Given the description of an element on the screen output the (x, y) to click on. 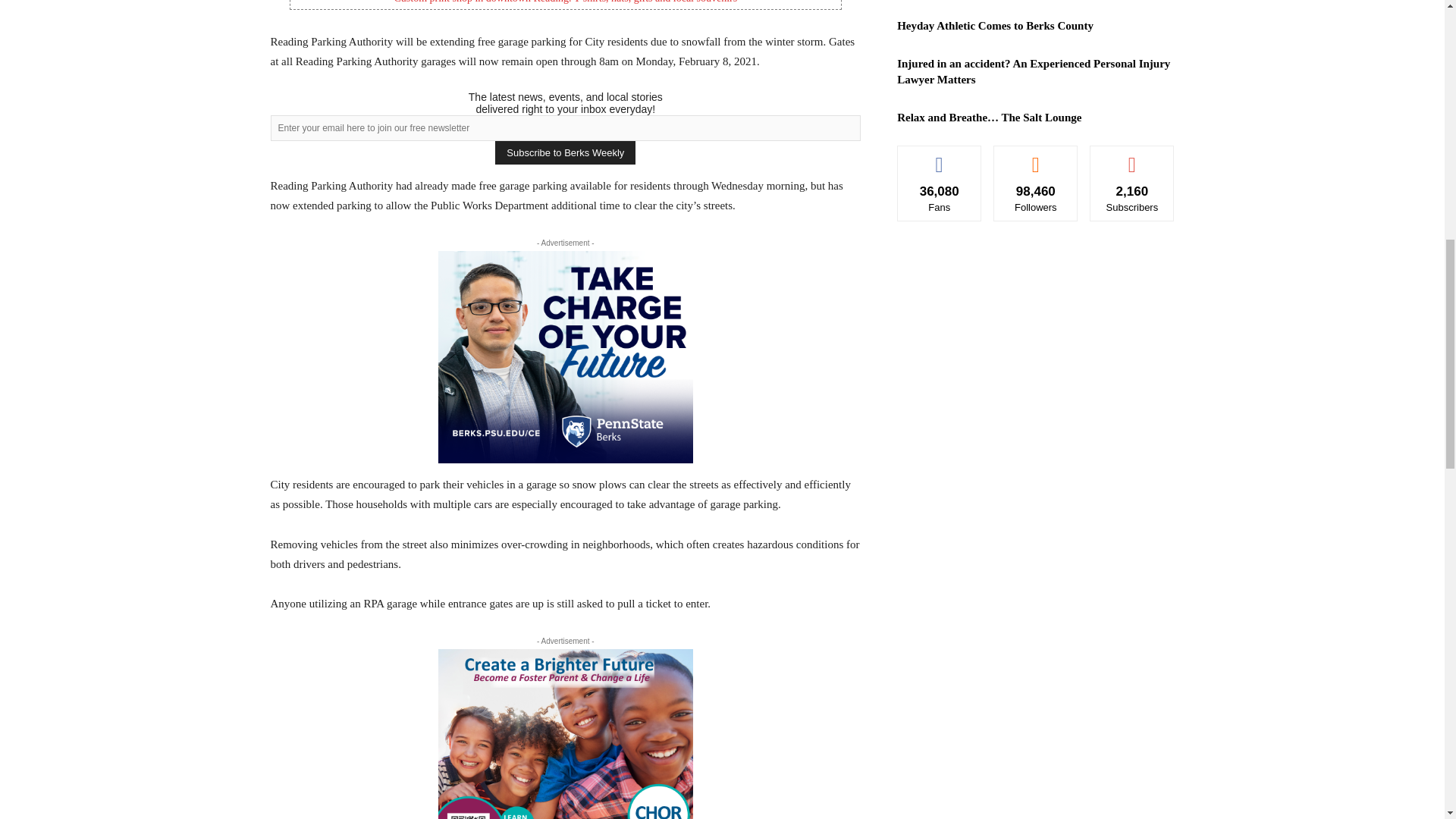
Subscribe to Berks Weekly (564, 152)
